Given the description of an element on the screen output the (x, y) to click on. 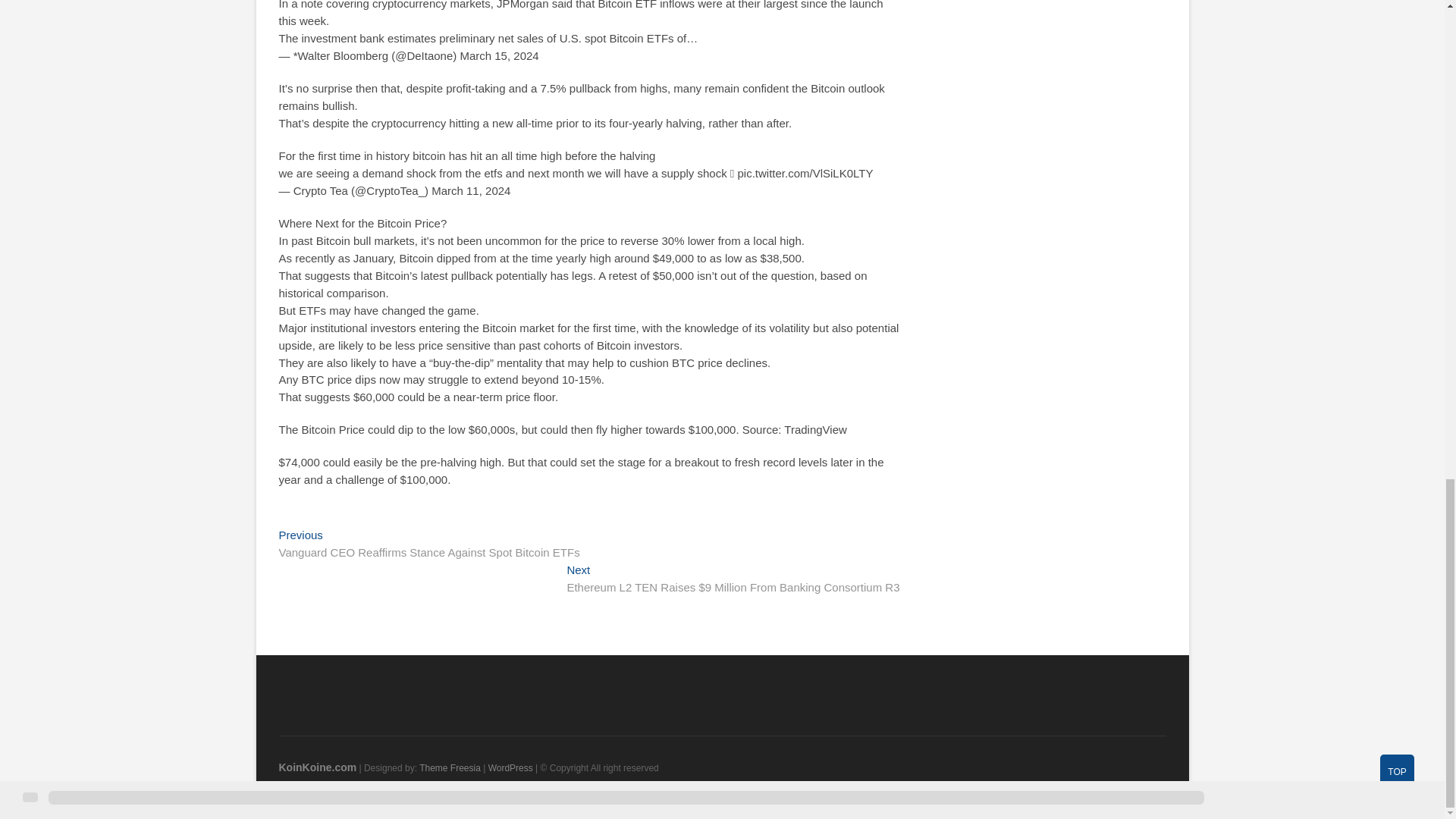
WordPress (509, 767)
KoinKoine.com (317, 767)
Theme Freesia (449, 767)
